Given the description of an element on the screen output the (x, y) to click on. 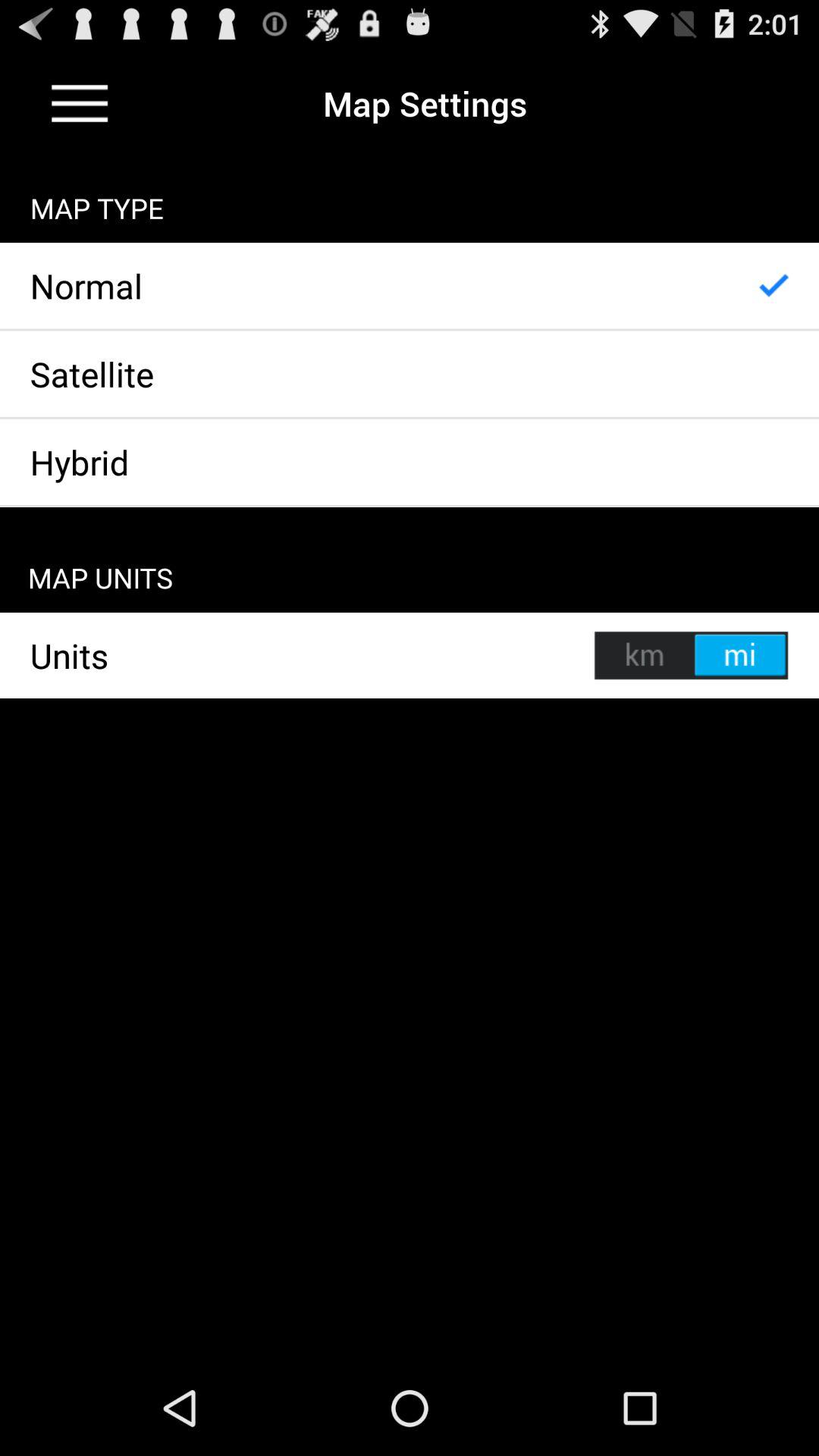
view dropdown menu (79, 103)
